Given the description of an element on the screen output the (x, y) to click on. 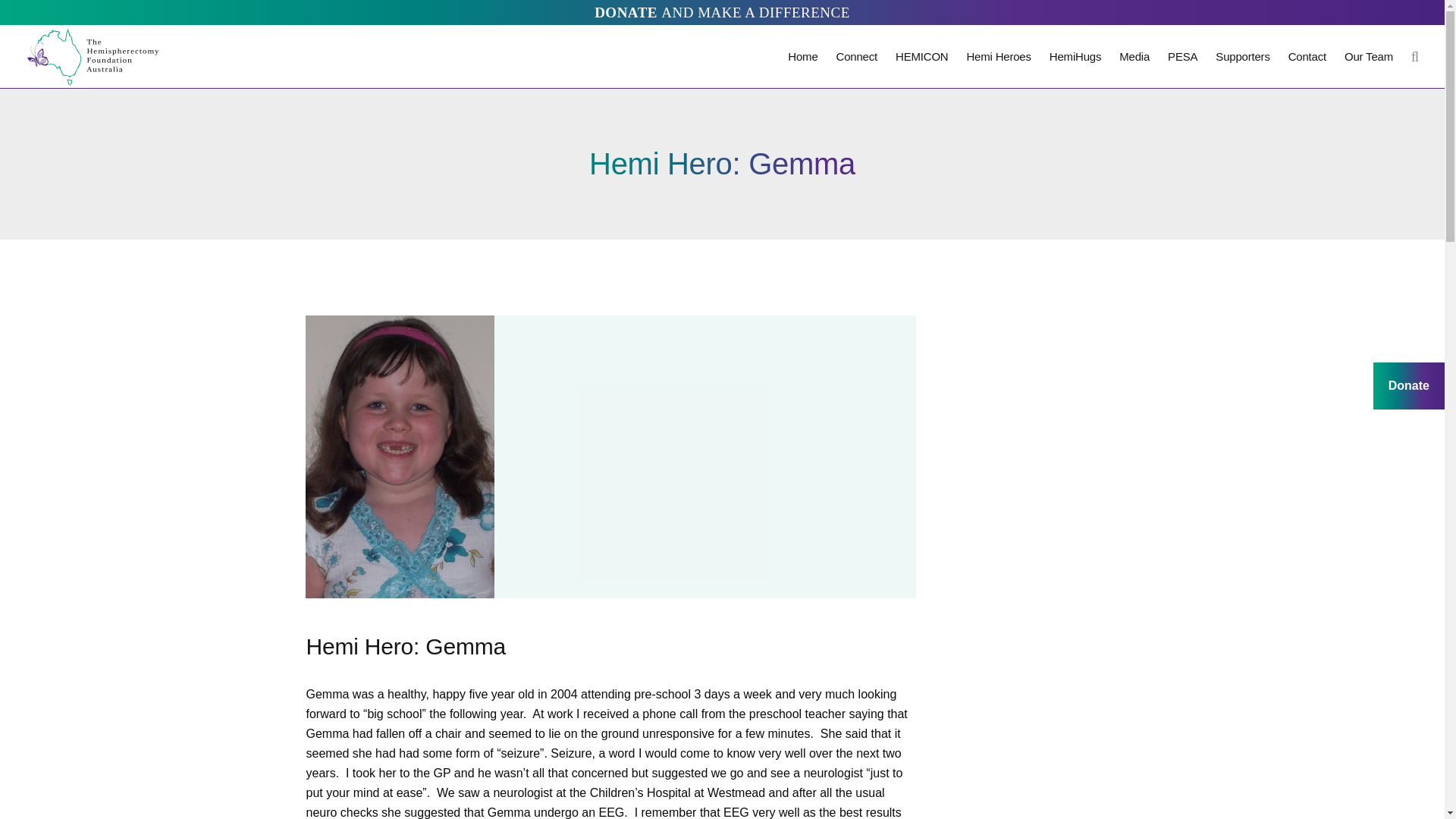
HEMICON (921, 56)
HemiHugs (1075, 56)
Hemi Heroes (997, 56)
Our Team (1368, 56)
Supporters (1242, 56)
Connect (856, 56)
Contact (1307, 56)
